Given the description of an element on the screen output the (x, y) to click on. 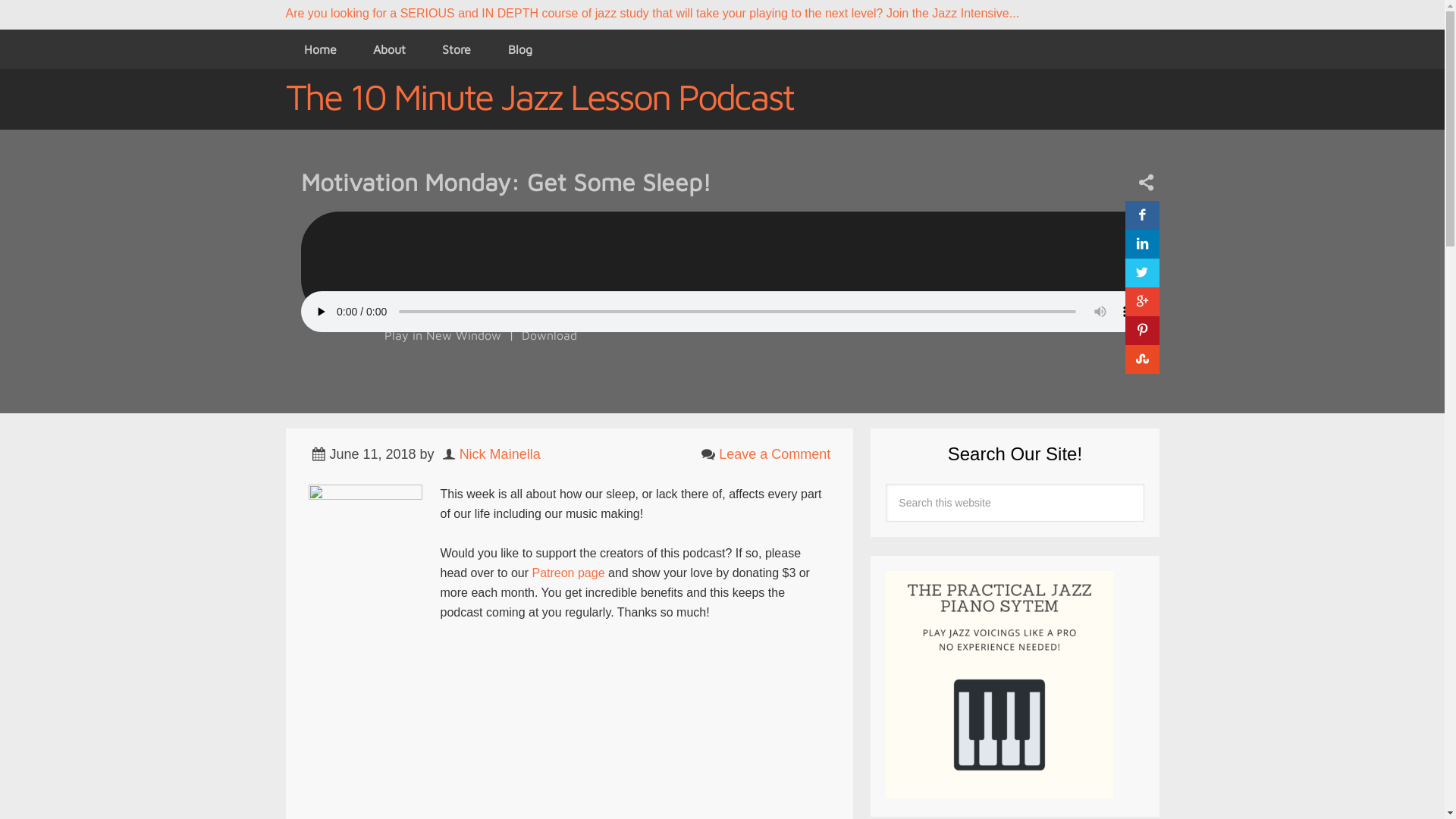
Home Element type: text (319, 49)
Patreon page Element type: text (567, 572)
Play in New Window Element type: text (441, 335)
Nick Mainella Element type: text (499, 453)
Blog Element type: text (519, 49)
Download Element type: text (549, 335)
The 10 Minute Jazz Lesson Podcast Element type: text (538, 96)
About Element type: text (388, 49)
Leave a Comment Element type: text (774, 453)
Store Element type: text (456, 49)
